Given the description of an element on the screen output the (x, y) to click on. 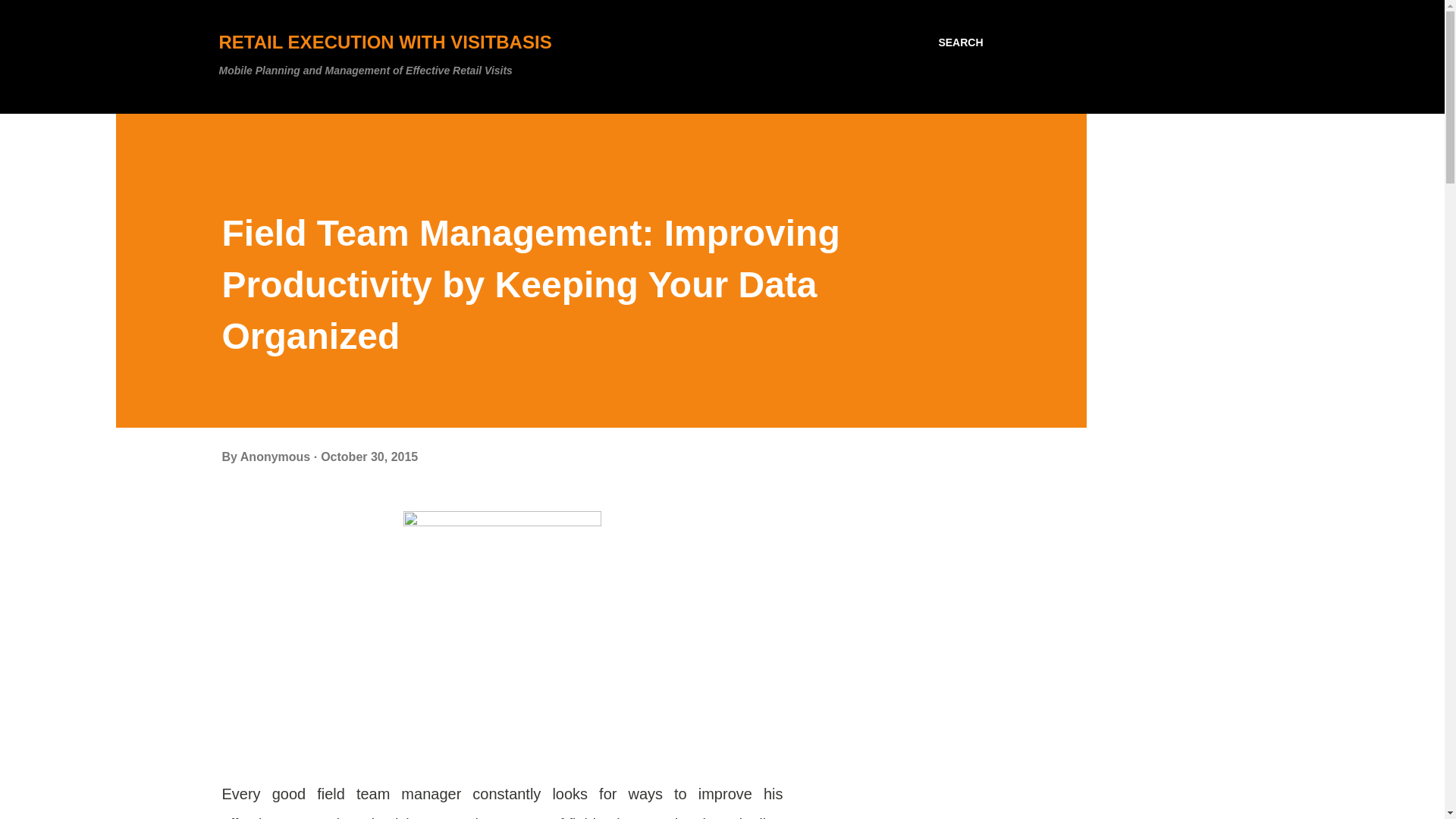
permanent link (368, 456)
SEARCH (959, 42)
October 30, 2015 (368, 456)
RETAIL EXECUTION WITH VISITBASIS (384, 41)
